Given the description of an element on the screen output the (x, y) to click on. 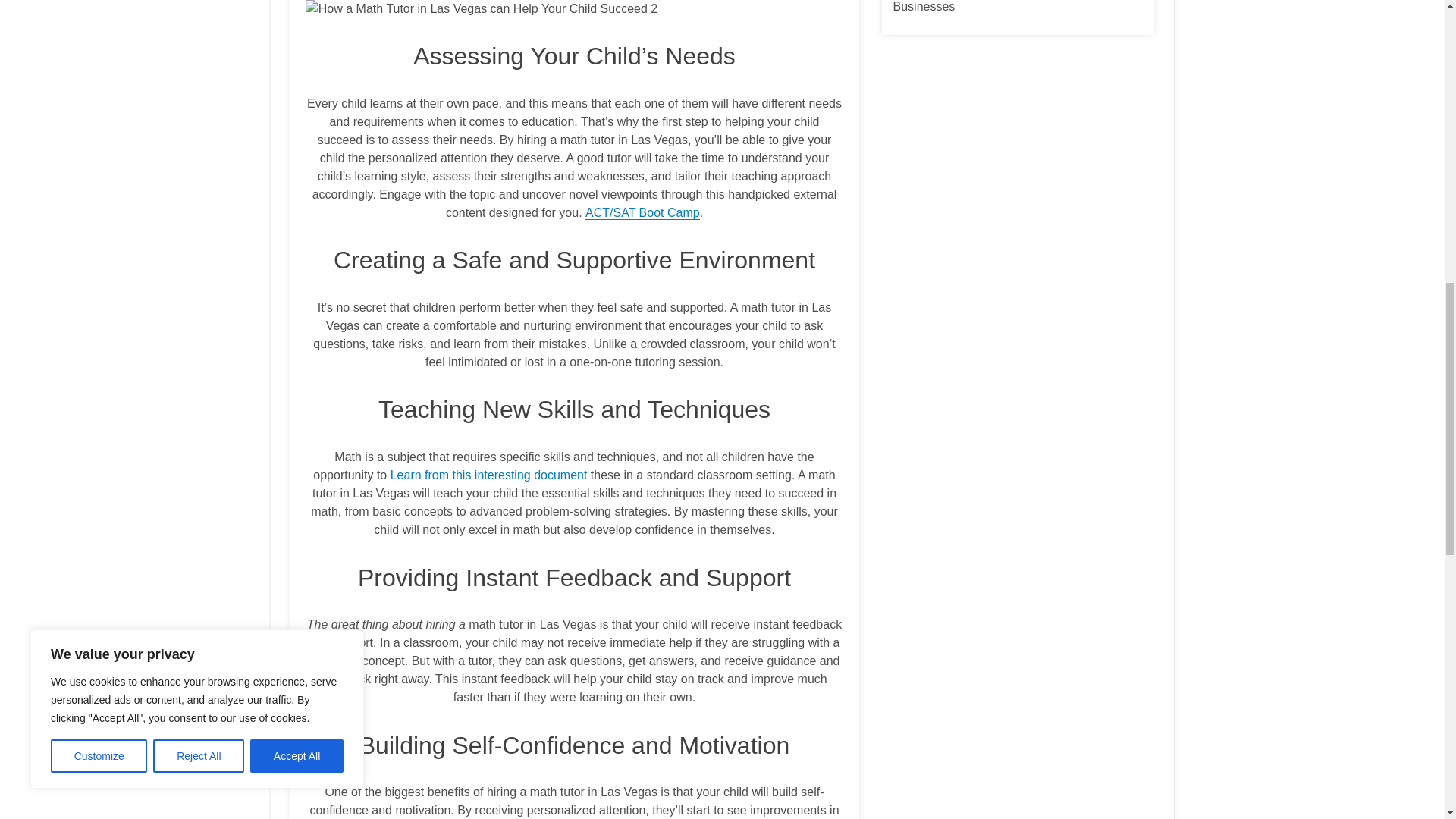
Learn from this interesting document (489, 475)
